Given the description of an element on the screen output the (x, y) to click on. 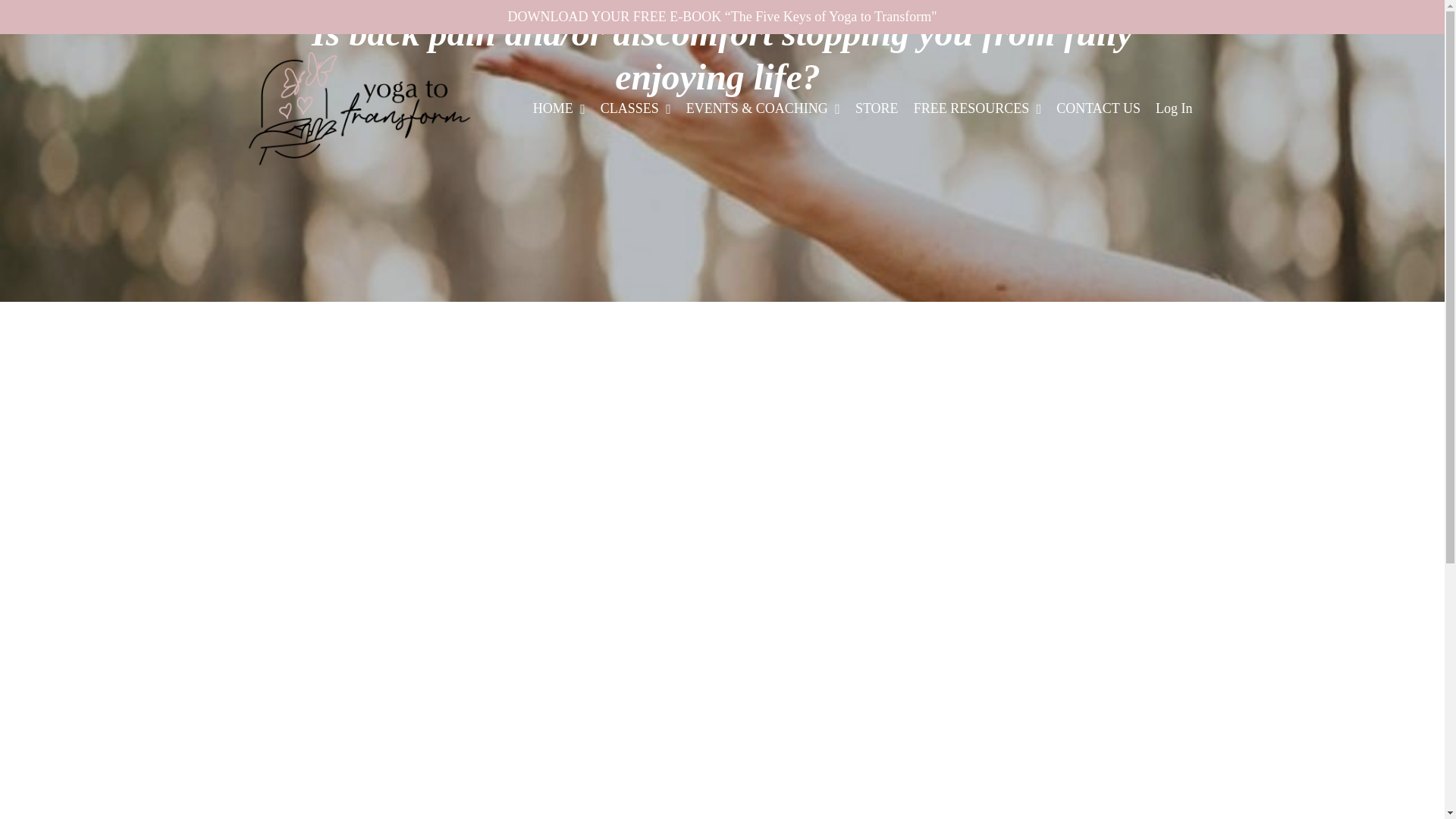
CLASSES (635, 108)
Log In (1174, 108)
CONTACT US (1098, 108)
STORE (877, 108)
FREE RESOURCES (978, 108)
HOME (558, 108)
